Given the description of an element on the screen output the (x, y) to click on. 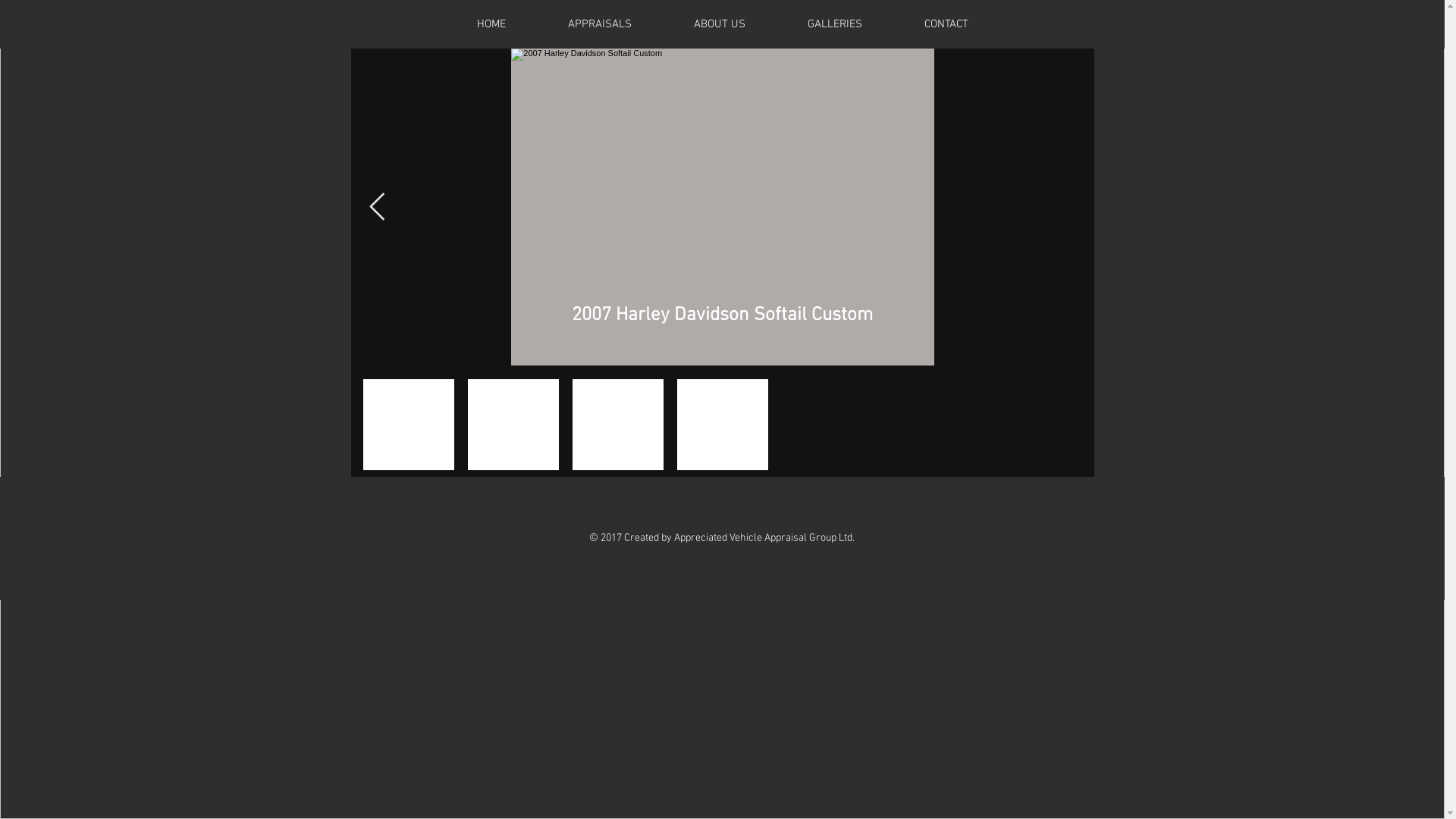
CONTACT Element type: text (946, 24)
APPRAISALS Element type: text (599, 24)
ABOUT US Element type: text (719, 24)
HOME Element type: text (490, 24)
GALLERIES Element type: text (834, 24)
